Given the description of an element on the screen output the (x, y) to click on. 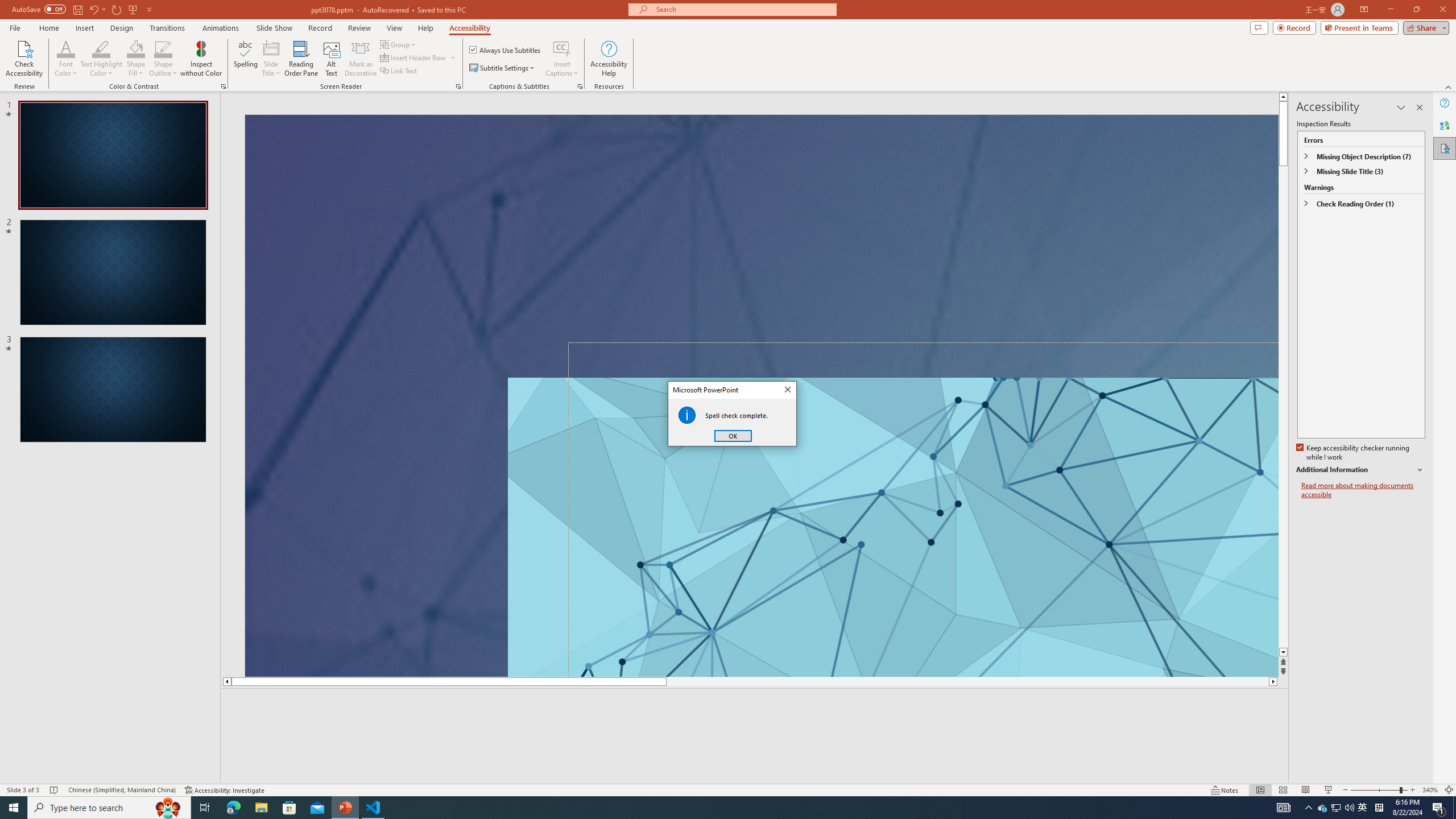
Zoom 340% (1430, 790)
Captions & Subtitles (580, 85)
Slide Title (271, 48)
Group (398, 44)
